Given the description of an element on the screen output the (x, y) to click on. 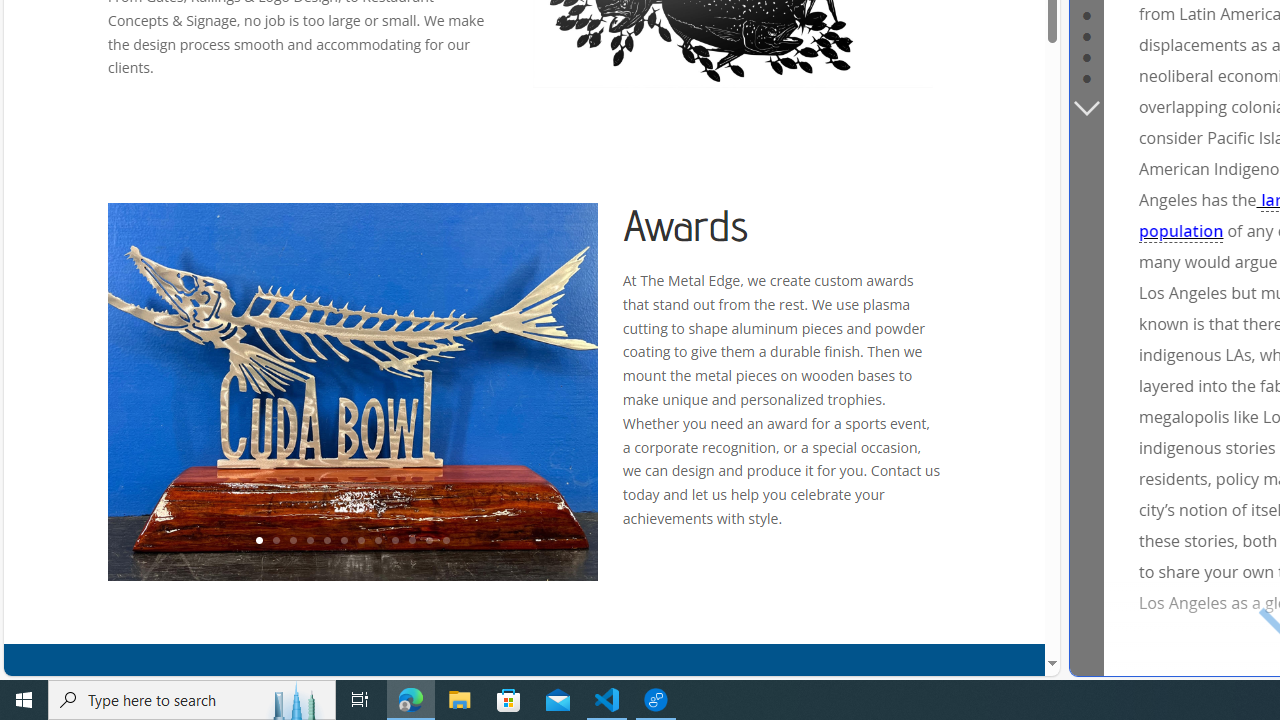
10 (412, 541)
1 (258, 541)
12 (445, 541)
Go to section 7: Latin American Indigenous Diasporas  (1086, 76)
Go to section 4: Kuruvungna  (1086, 13)
Next section (1086, 106)
6 (344, 541)
11 (428, 541)
4 (309, 541)
9 (394, 541)
5 (326, 541)
Go to section 5: American Indians in Los Angeles  (1086, 34)
3 (292, 541)
2 (275, 541)
7 (360, 541)
